Given the description of an element on the screen output the (x, y) to click on. 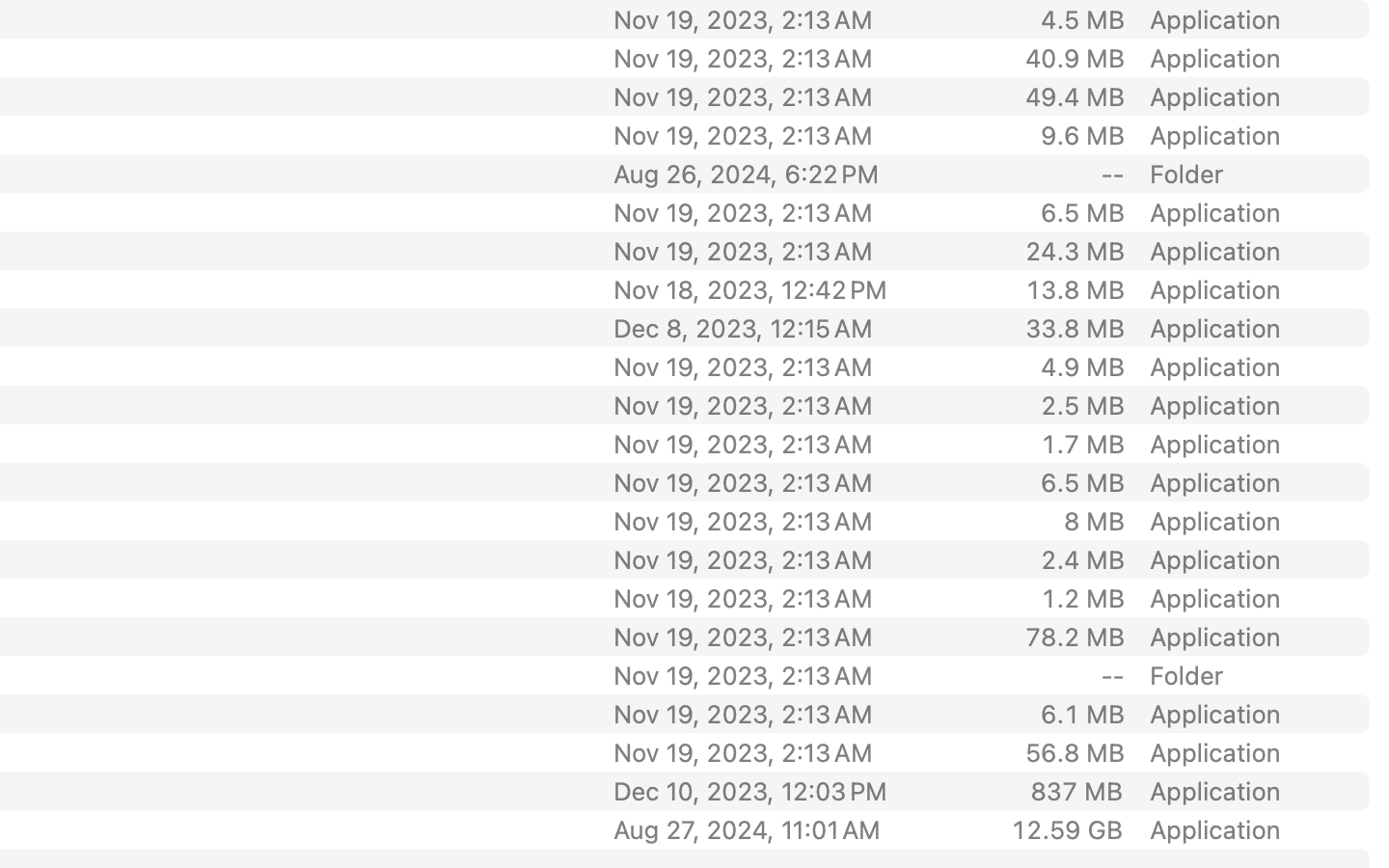
40.9 MB Element type: AXStaticText (1074, 57)
6.5 MB Element type: AXStaticText (1081, 481)
837 MB Element type: AXStaticText (1076, 790)
2.4 MB Element type: AXStaticText (1081, 558)
1.2 MB Element type: AXStaticText (1081, 597)
